Given the description of an element on the screen output the (x, y) to click on. 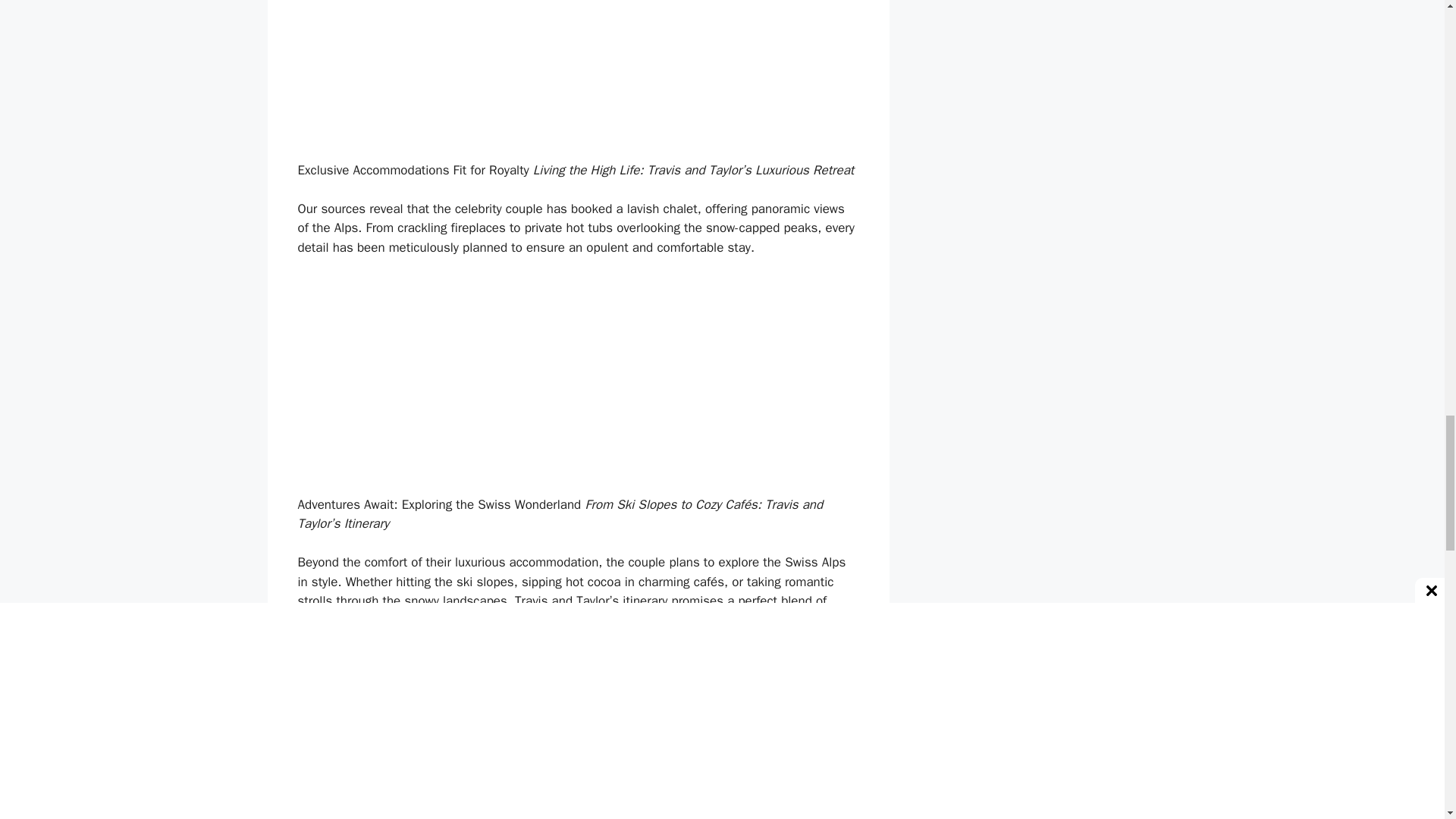
Advertisement (578, 382)
Advertisement (578, 77)
